Given the description of an element on the screen output the (x, y) to click on. 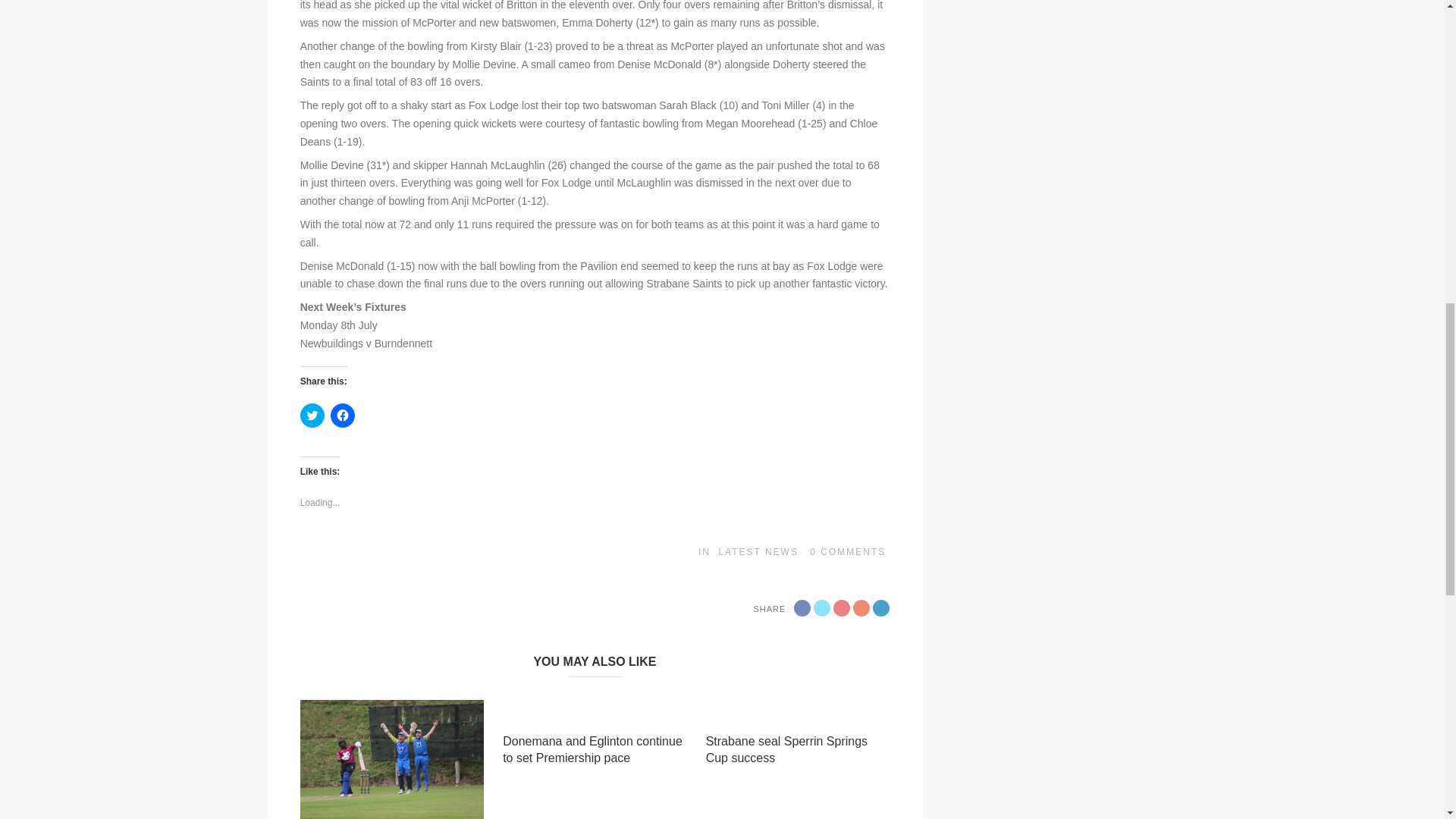
Twitter (821, 607)
LinkedIn (880, 607)
Click to share on Facebook (342, 415)
Click to share on Twitter (311, 415)
Facebook (801, 607)
Pinterest (861, 607)
